Given the description of an element on the screen output the (x, y) to click on. 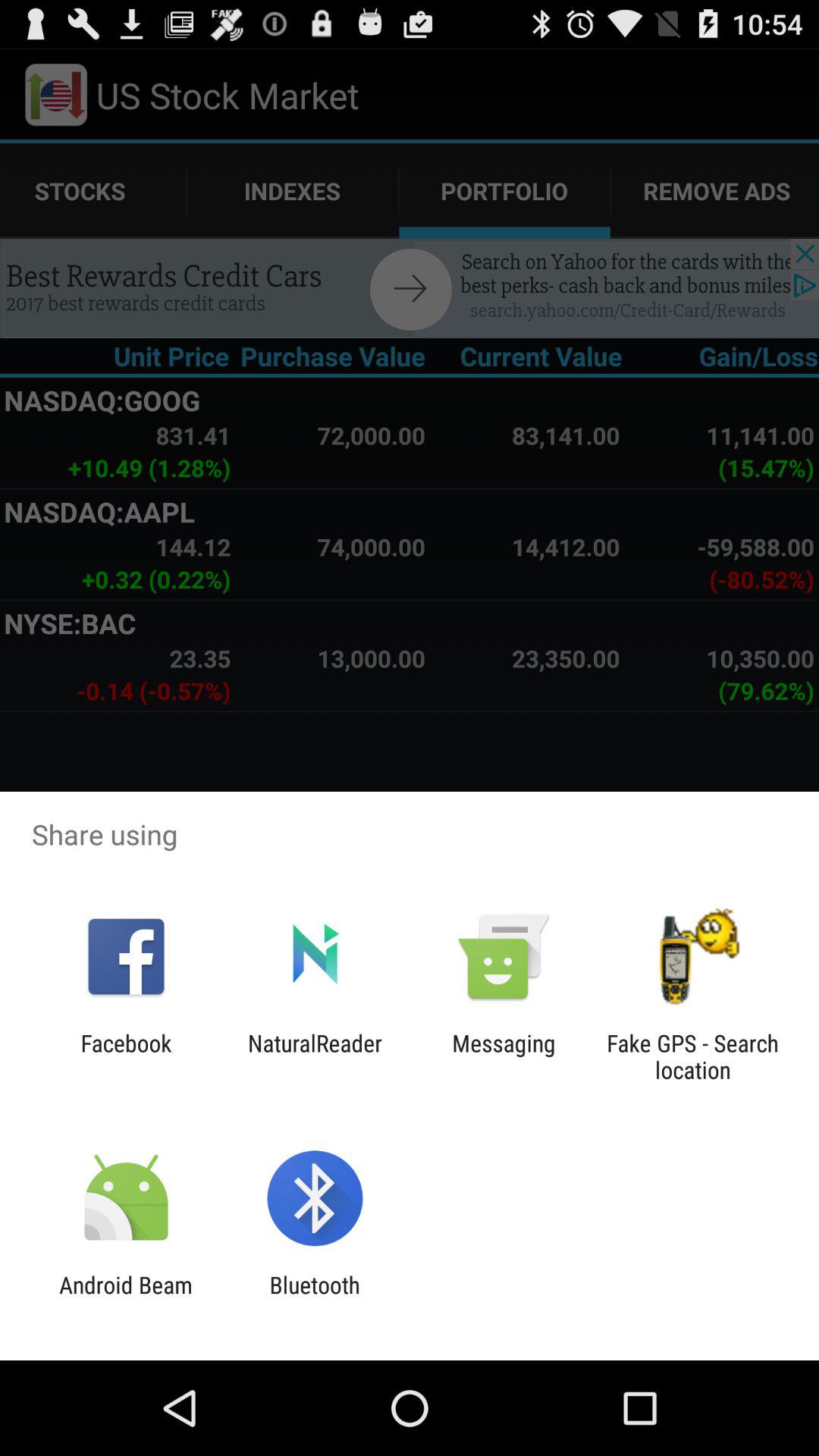
tap the icon to the right of android beam (314, 1298)
